Given the description of an element on the screen output the (x, y) to click on. 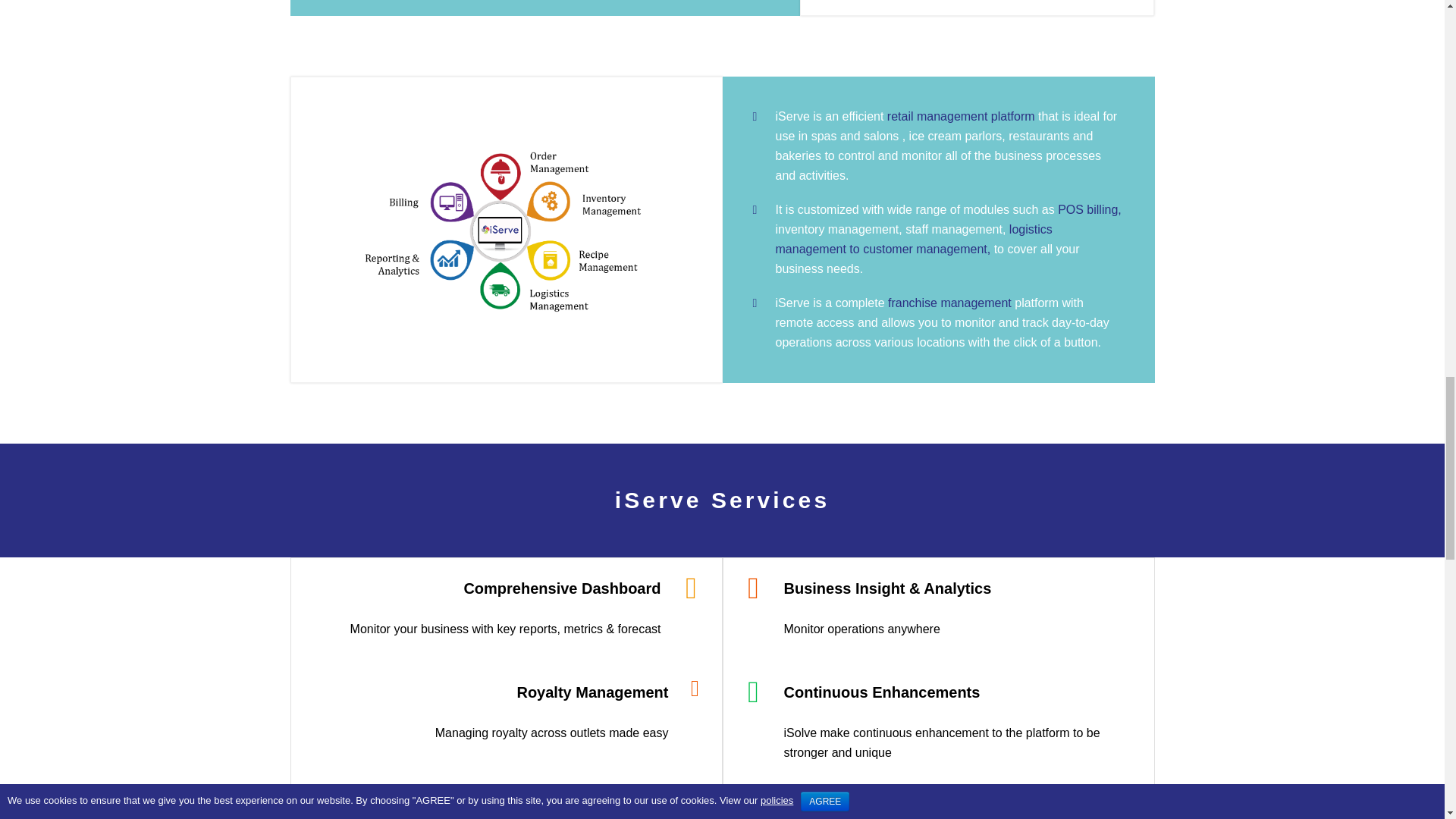
iServe Services (721, 499)
